Given the description of an element on the screen output the (x, y) to click on. 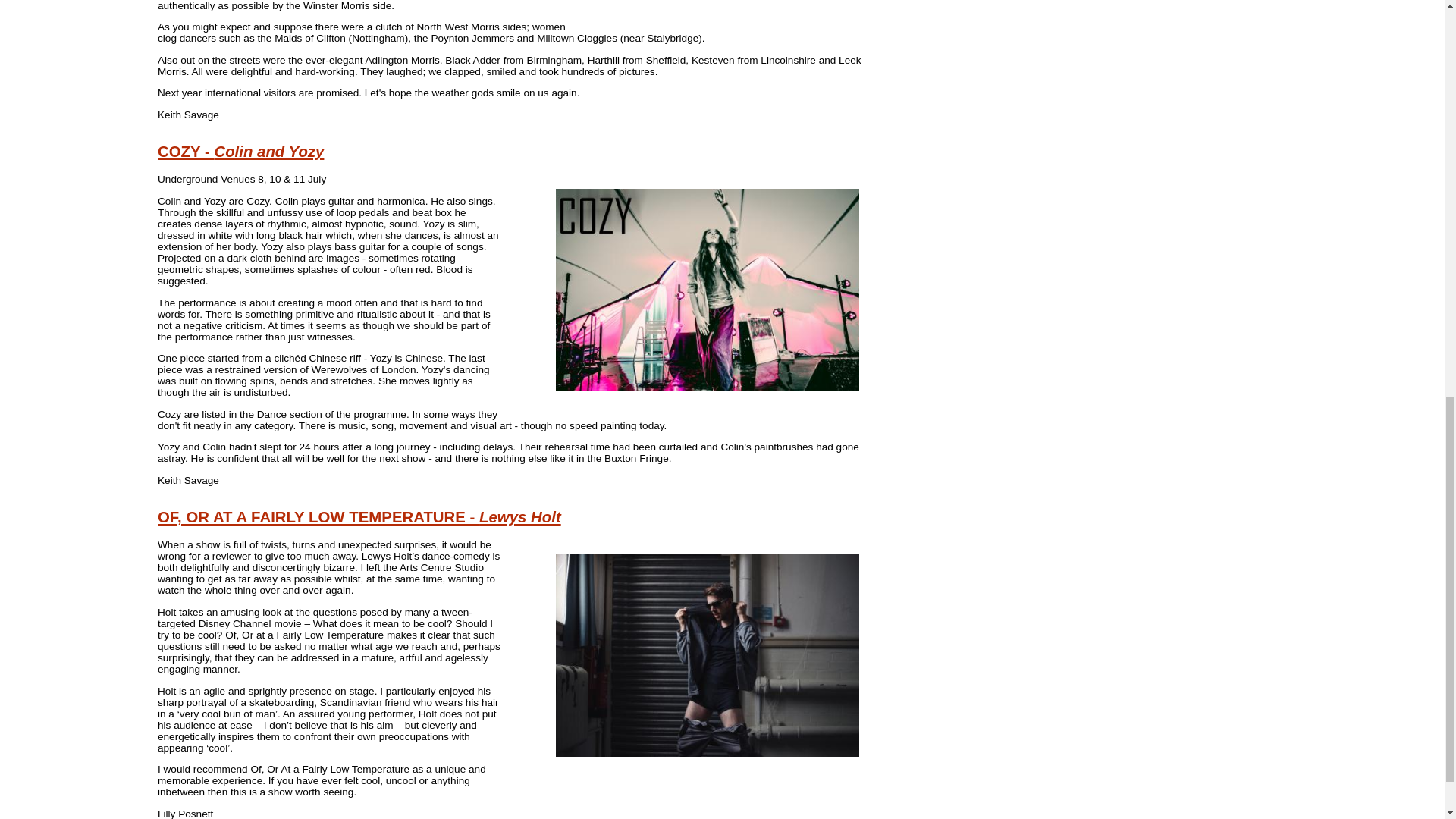
OF, OR AT A FAIRLY LOW TEMPERATURE - Lewys Holt (358, 516)
COZY - Colin and Yozy (240, 151)
